Given the description of an element on the screen output the (x, y) to click on. 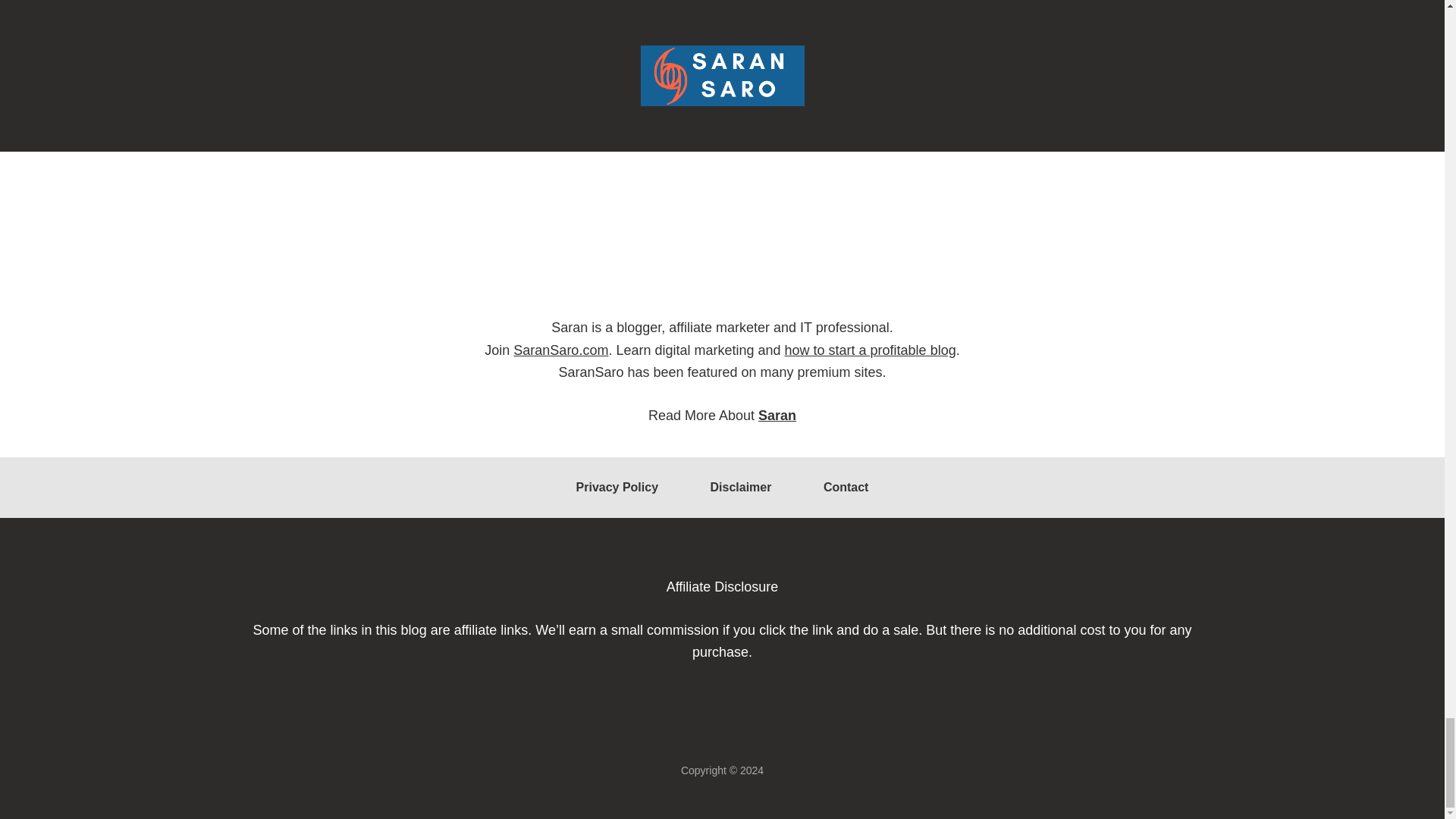
how to start a profitable blog (870, 350)
SaranSaro.com (560, 350)
Post Comment (359, 20)
Post Comment (359, 20)
